Given the description of an element on the screen output the (x, y) to click on. 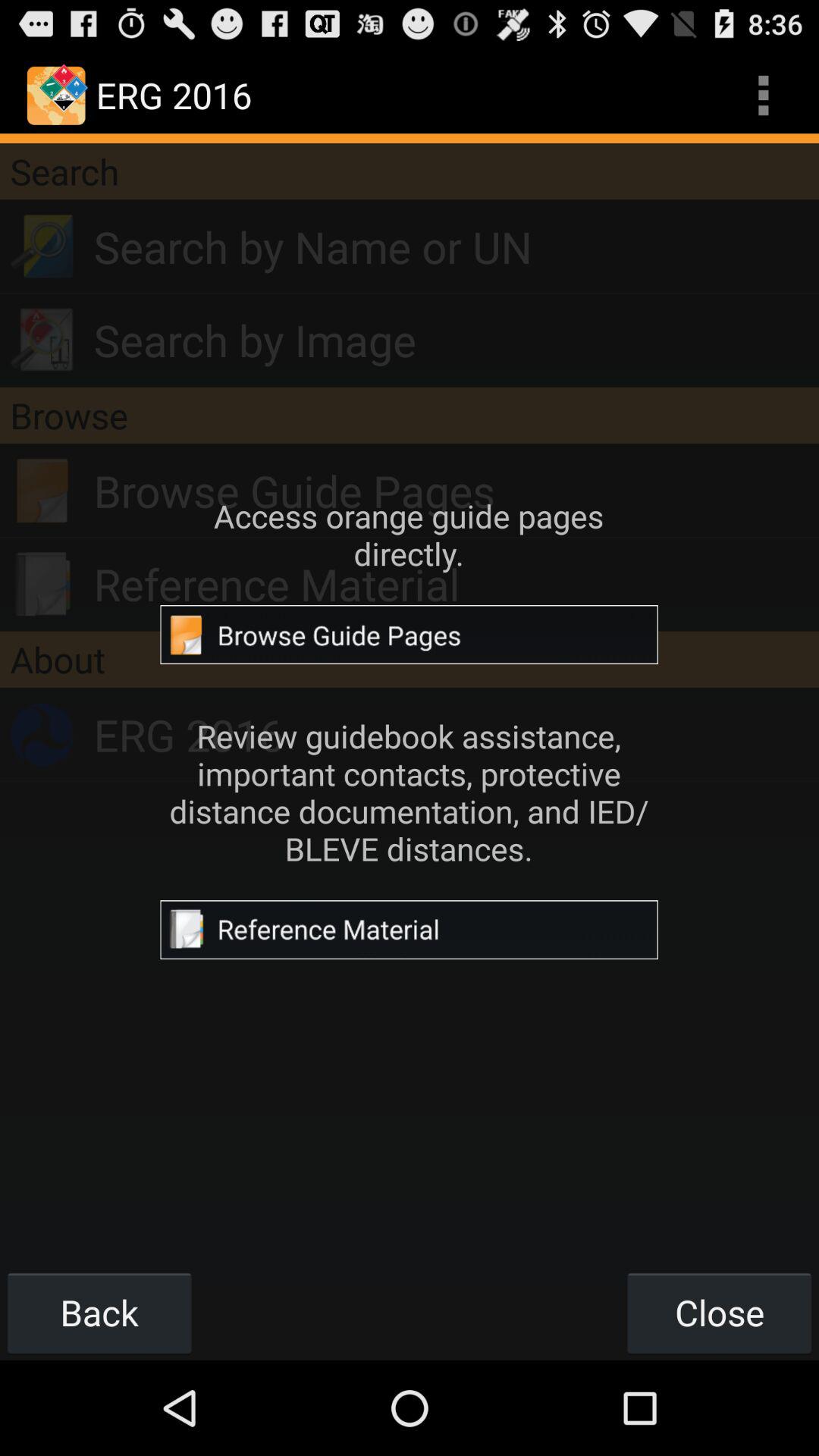
tap the app next to the erg 2016 (763, 95)
